Given the description of an element on the screen output the (x, y) to click on. 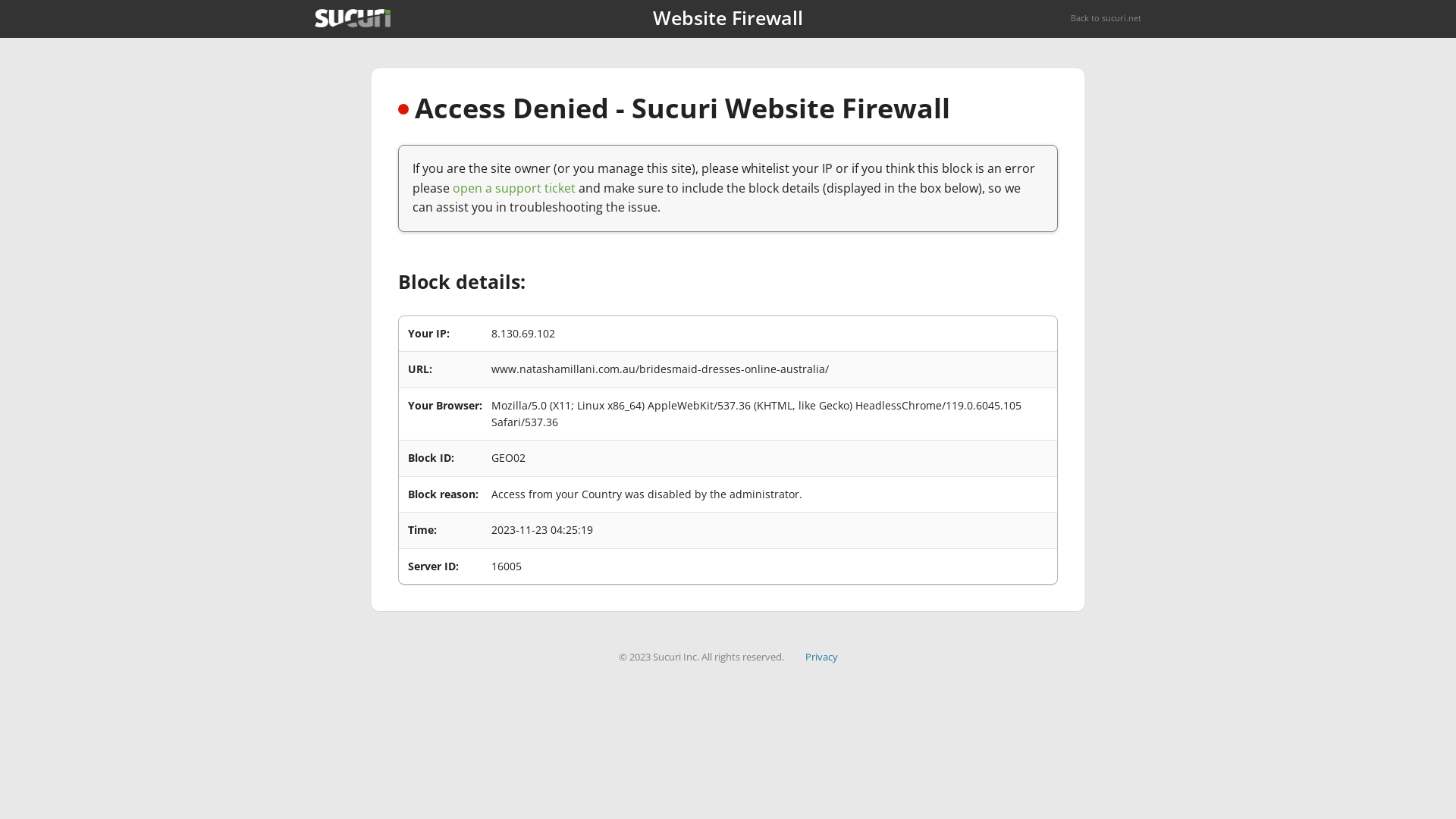
Back to sucuri.net Element type: text (1105, 18)
open a support ticket Element type: text (513, 187)
Privacy Element type: text (821, 656)
